Given the description of an element on the screen output the (x, y) to click on. 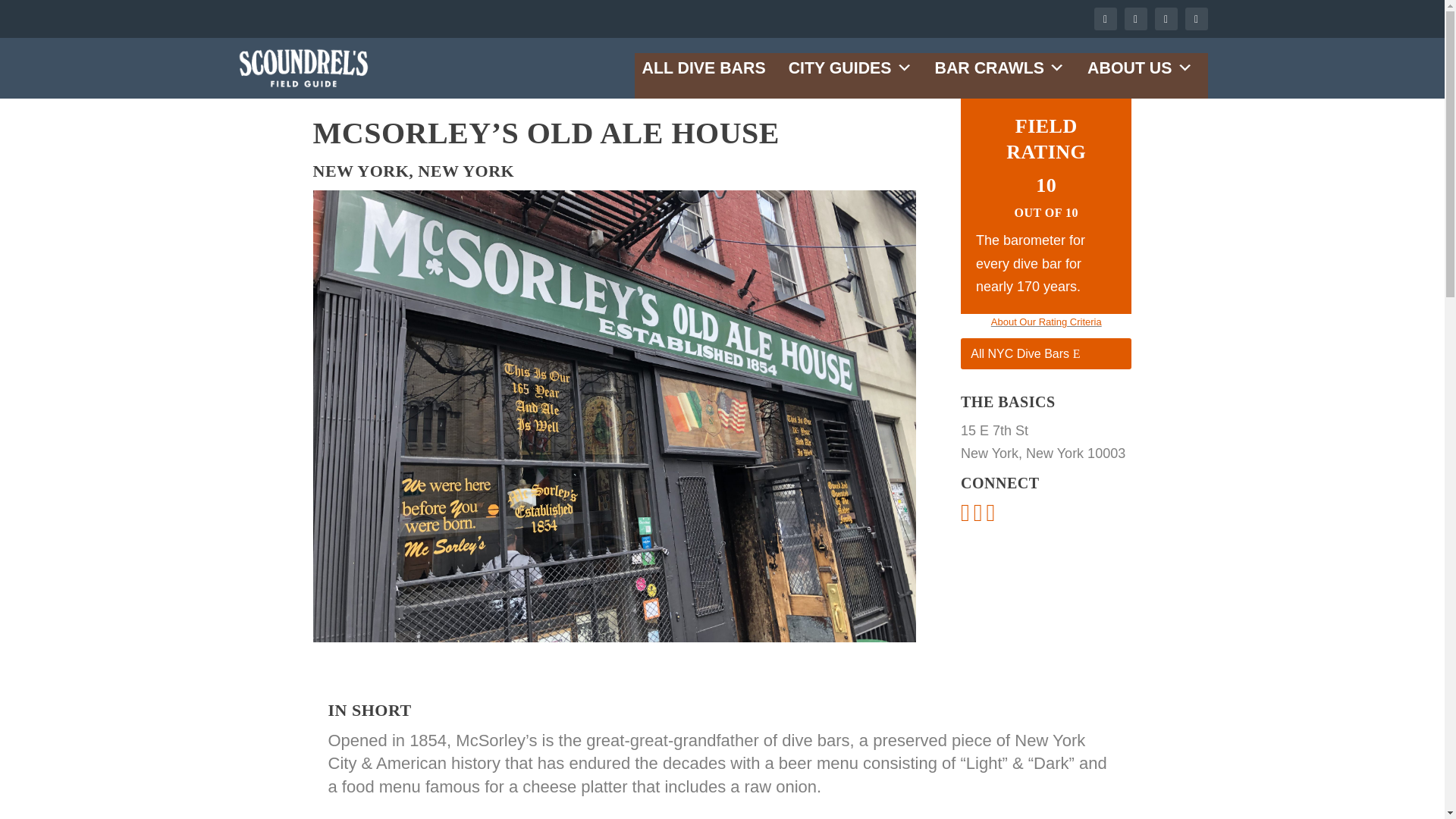
ALL DIVE BARS (703, 68)
CITY GUIDES (850, 68)
